Given the description of an element on the screen output the (x, y) to click on. 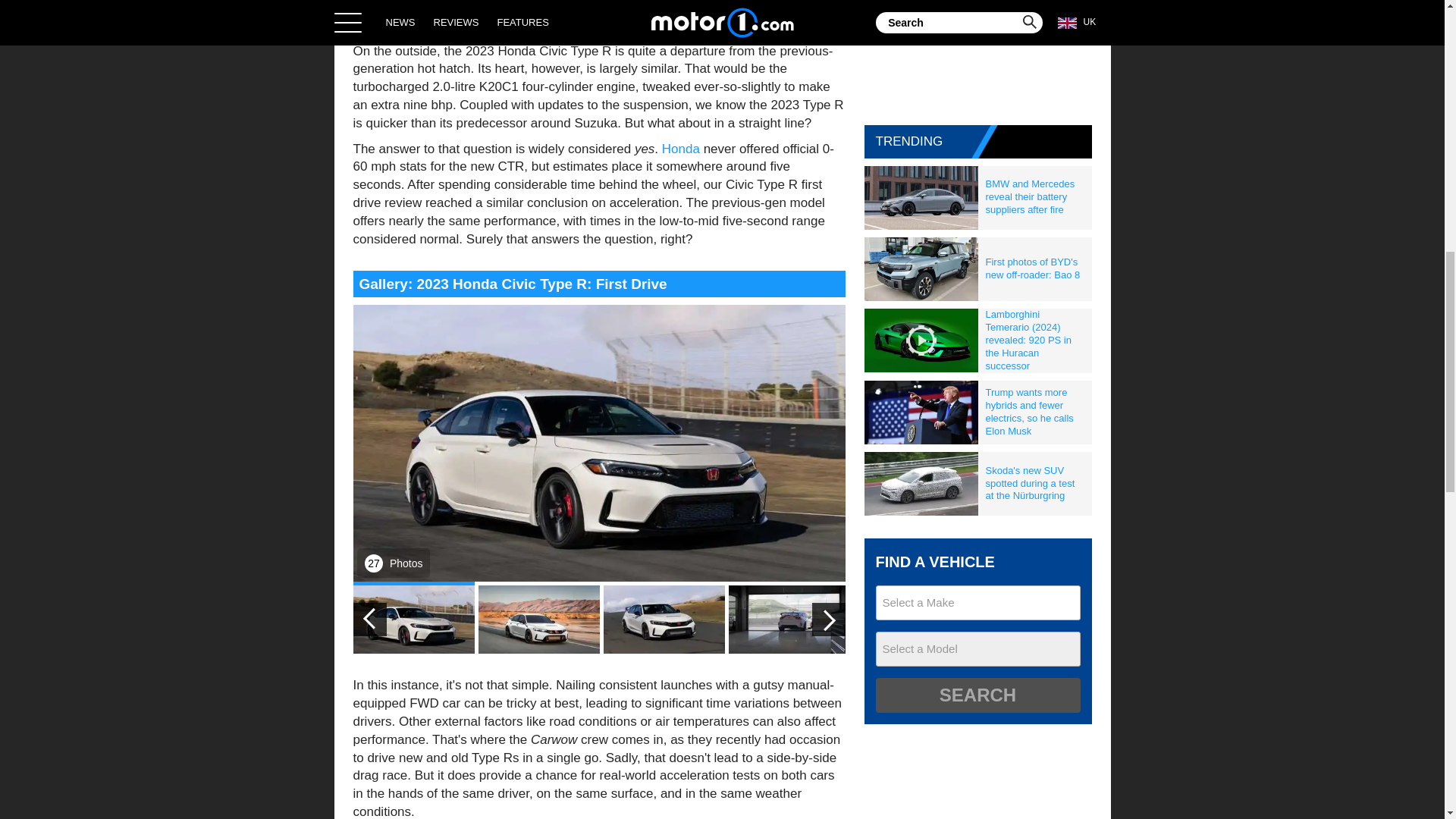
Christopher Smith (550, 1)
Search (977, 695)
Honda (681, 148)
